Given the description of an element on the screen output the (x, y) to click on. 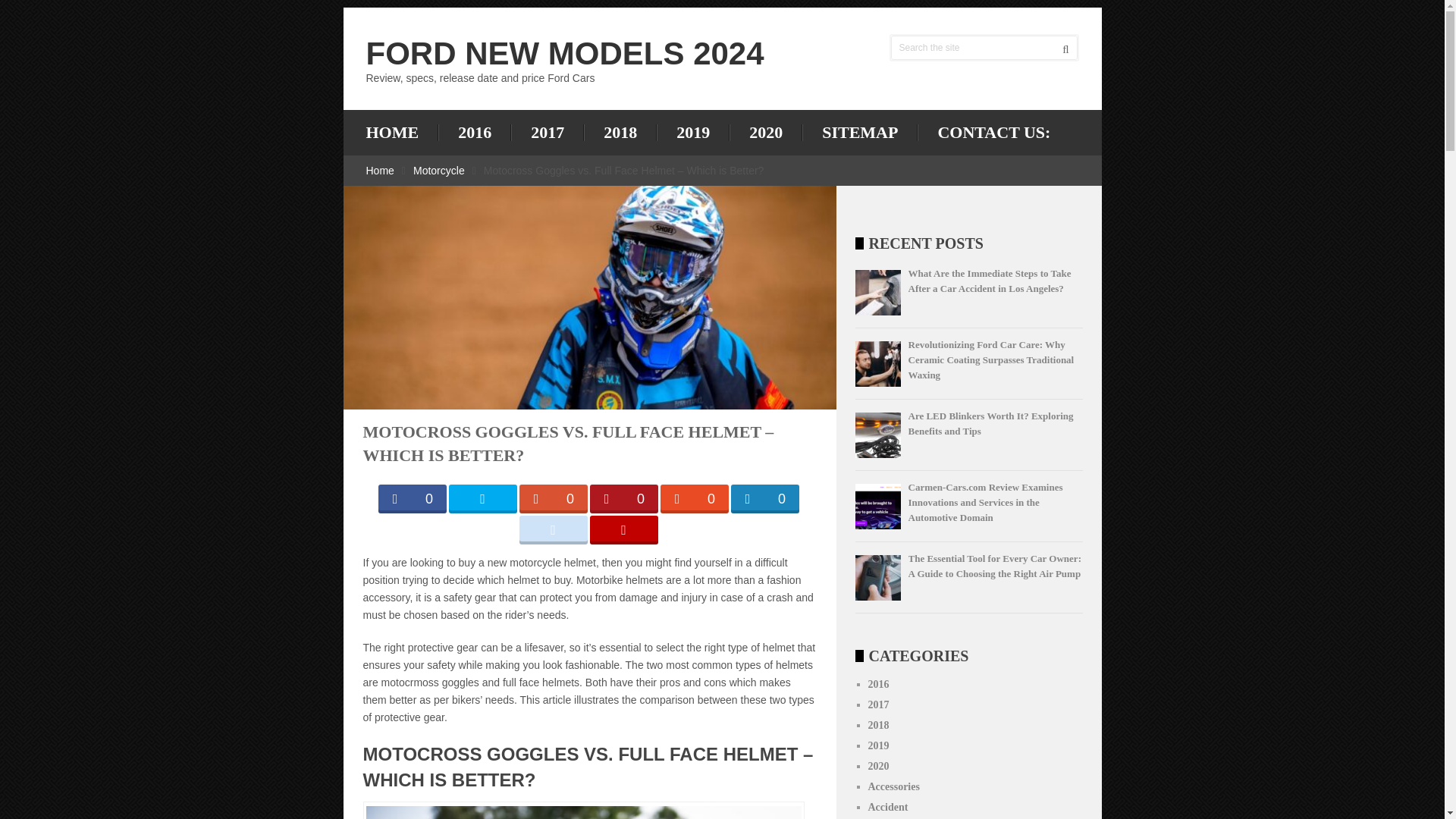
SITEMAP (859, 132)
Home (379, 170)
0 (764, 498)
2018 (619, 132)
0 (552, 498)
FORD NEW MODELS 2024 (563, 53)
0 (411, 498)
2017 (547, 132)
2019 (692, 132)
HOME (401, 132)
0 (623, 498)
0 (693, 498)
2016 (474, 132)
CONTACT US: (992, 132)
Motorcycle (438, 170)
